Given the description of an element on the screen output the (x, y) to click on. 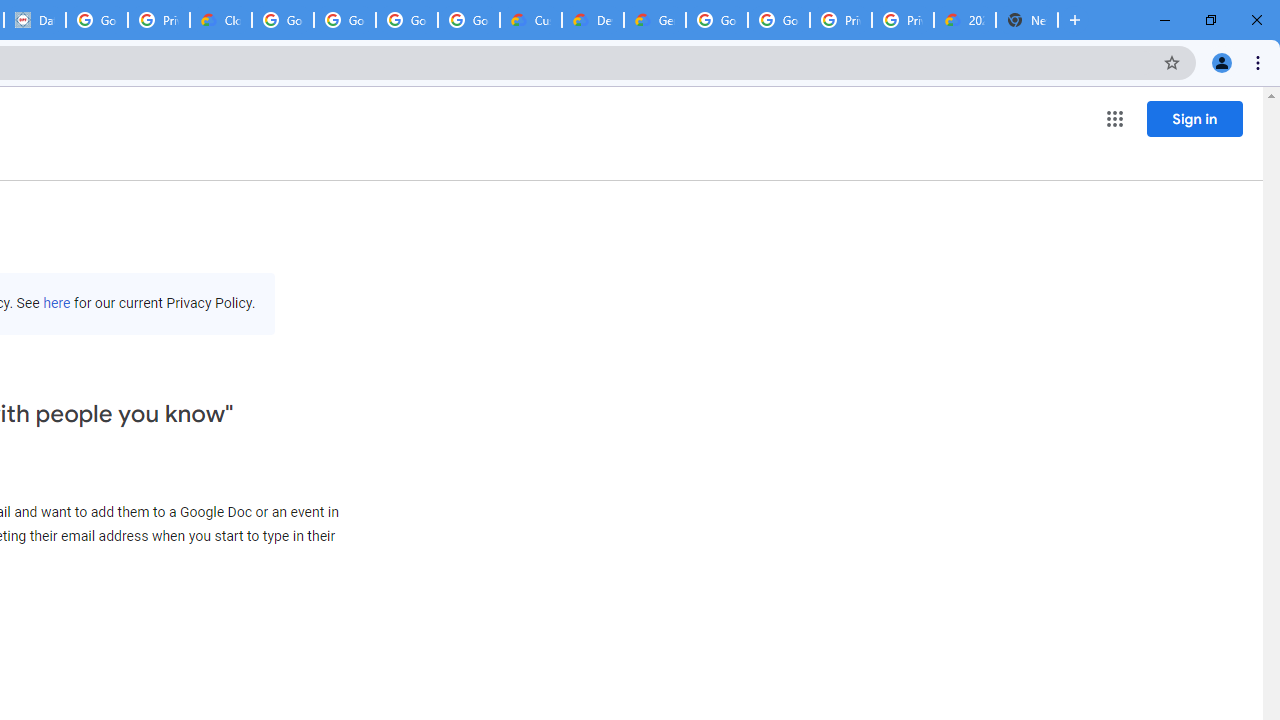
Cloud Data Processing Addendum | Google Cloud (220, 20)
New Tab (1026, 20)
Gemini for Business and Developers | Google Cloud (654, 20)
Customer Care | Google Cloud (530, 20)
here (56, 303)
Google Workspace - Specific Terms (468, 20)
